Given the description of an element on the screen output the (x, y) to click on. 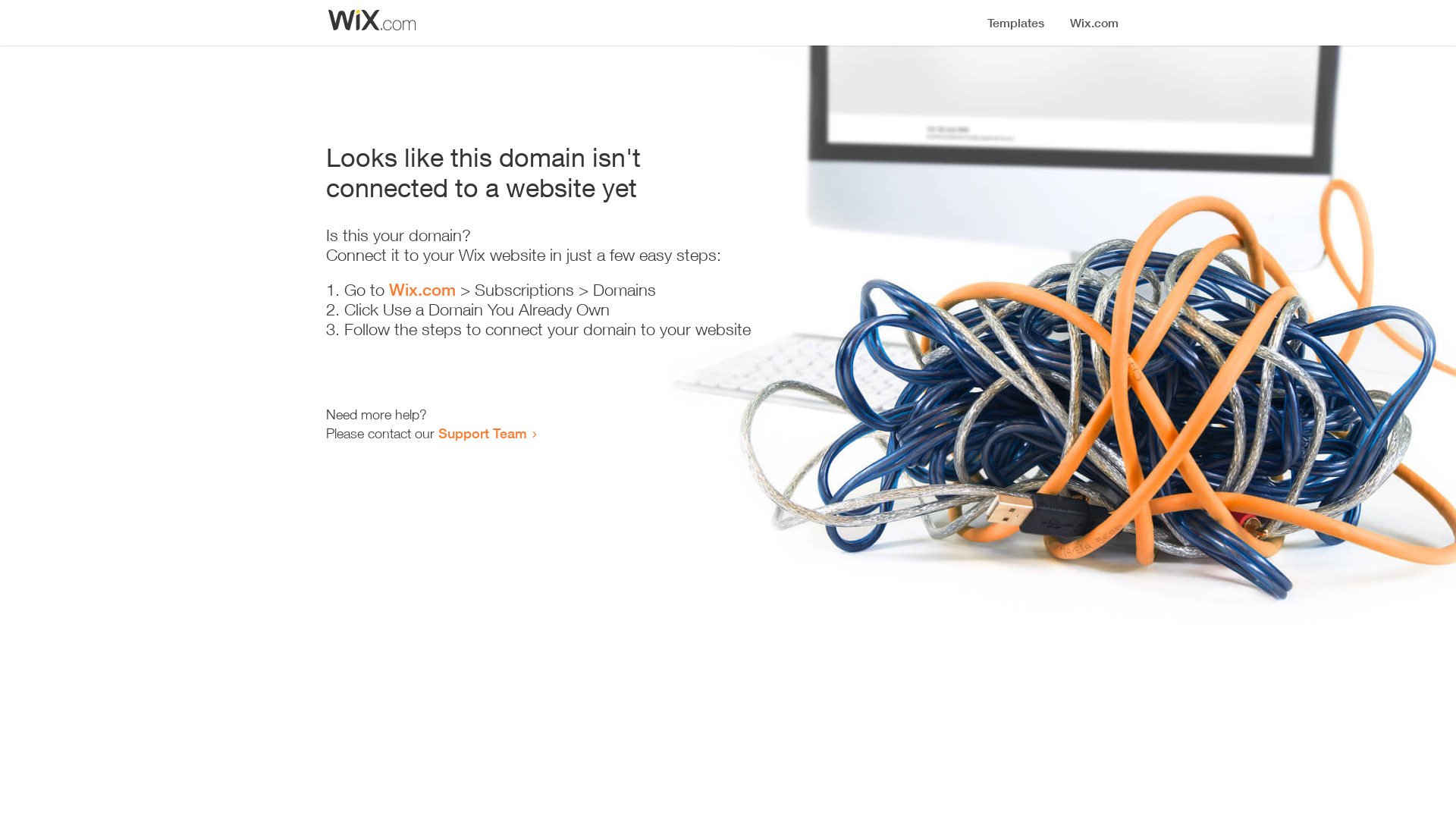
Wix.com Element type: text (422, 289)
Support Team Element type: text (482, 432)
